Given the description of an element on the screen output the (x, y) to click on. 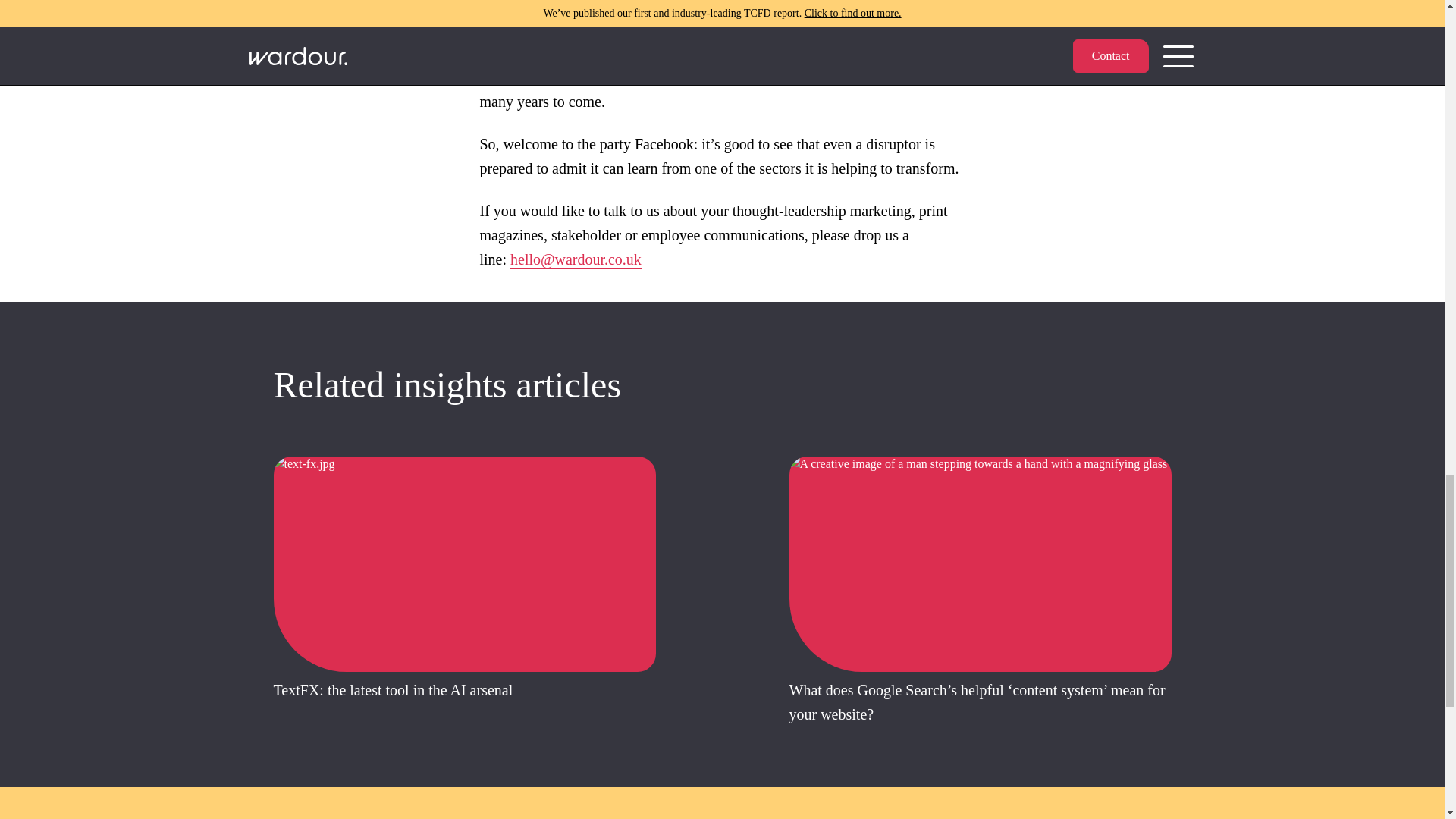
text-fx.jpg (463, 564)
TextFX: the latest tool in the AI arsenal (392, 688)
